Given the description of an element on the screen output the (x, y) to click on. 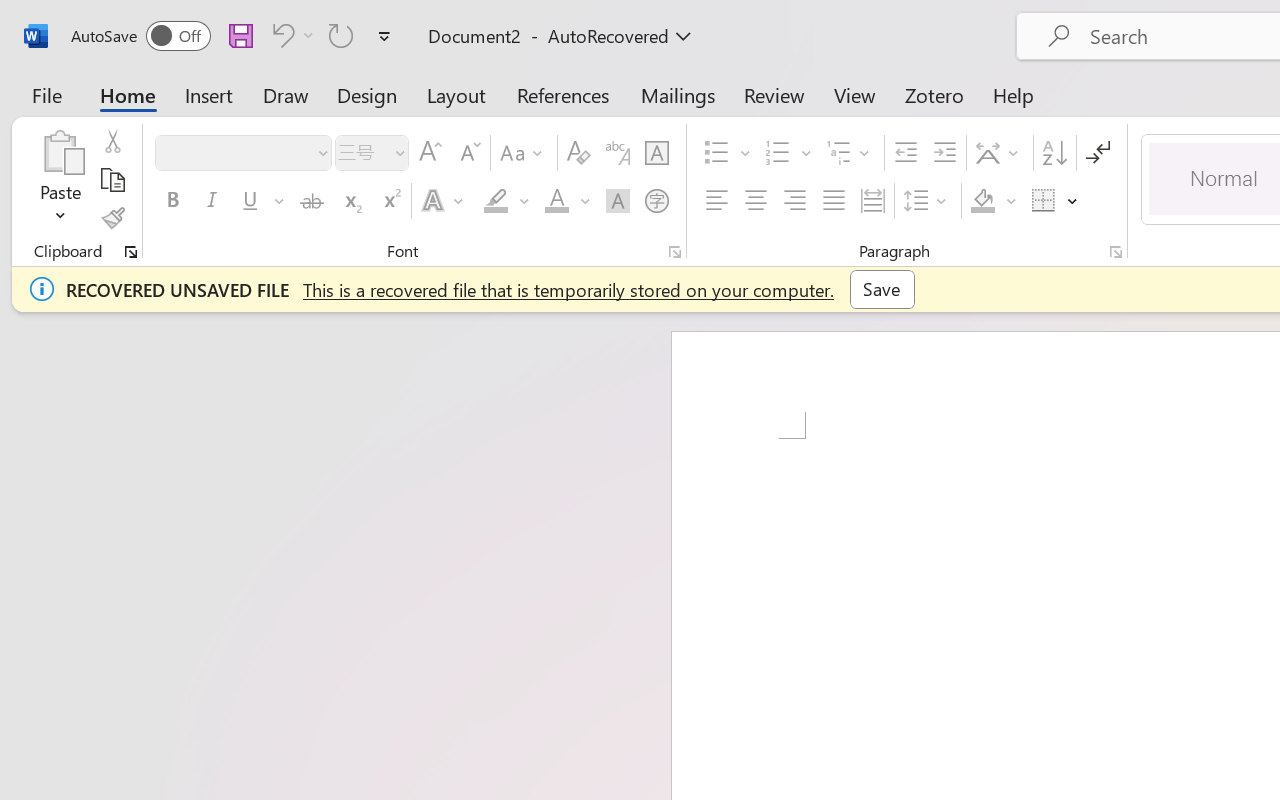
Copy (112, 179)
Multilevel List (850, 153)
Can't Undo (280, 35)
Font... (675, 252)
Shading (993, 201)
Phonetic Guide... (618, 153)
Bold (172, 201)
Sort... (1054, 153)
